Given the description of an element on the screen output the (x, y) to click on. 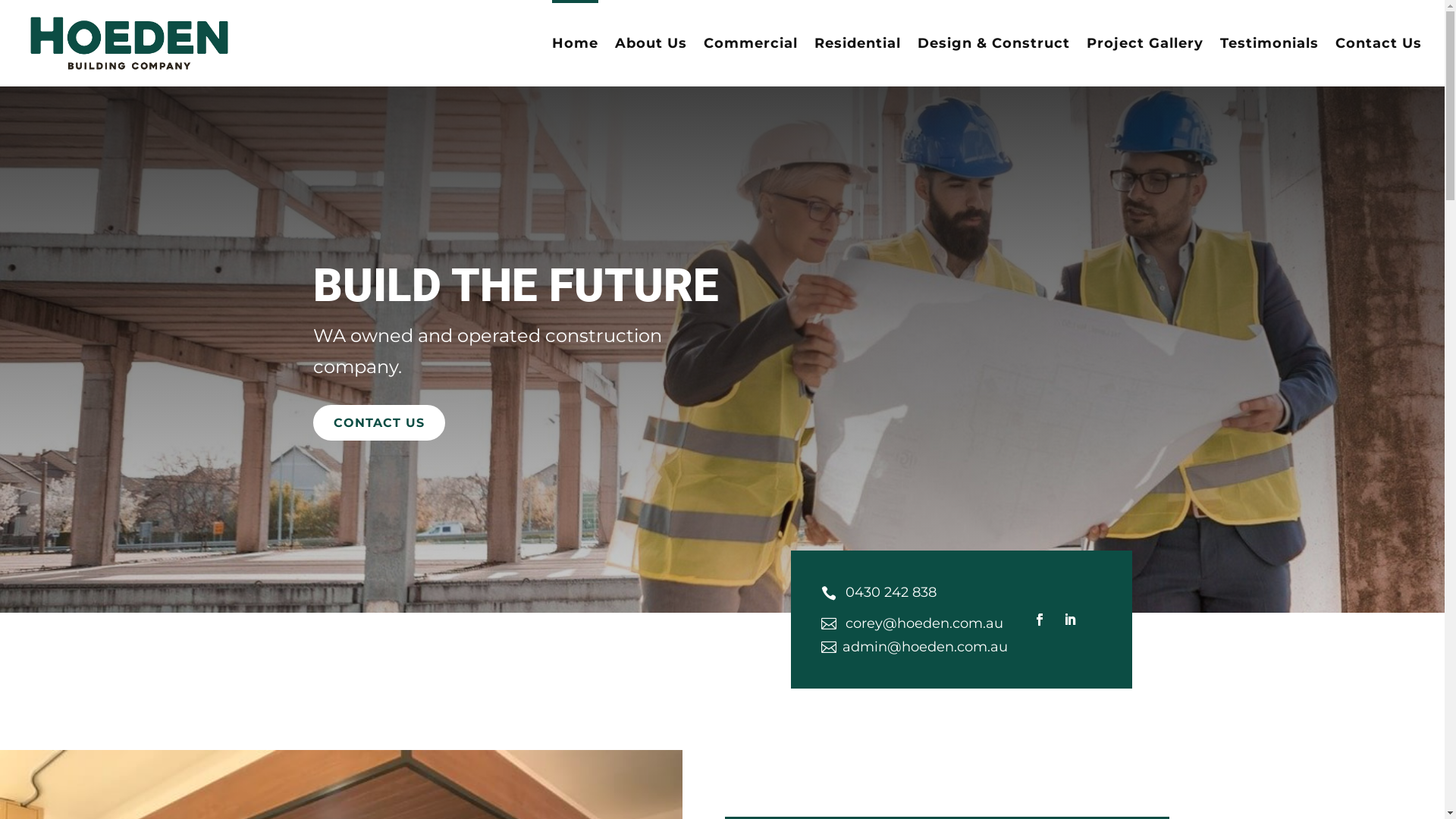
CONTACT US Element type: text (378, 422)
About Us Element type: text (651, 61)
Residential Element type: text (857, 61)
Design & Construct Element type: text (993, 61)
Project Gallery Element type: text (1144, 61)
Home Element type: text (575, 61)
Testimonials Element type: text (1269, 61)
Contact Us Element type: text (1378, 61)
Follow on Facebook Element type: hover (1039, 619)
Commercial Element type: text (750, 61)
Follow on LinkedIn Element type: hover (1069, 619)
